Given the description of an element on the screen output the (x, y) to click on. 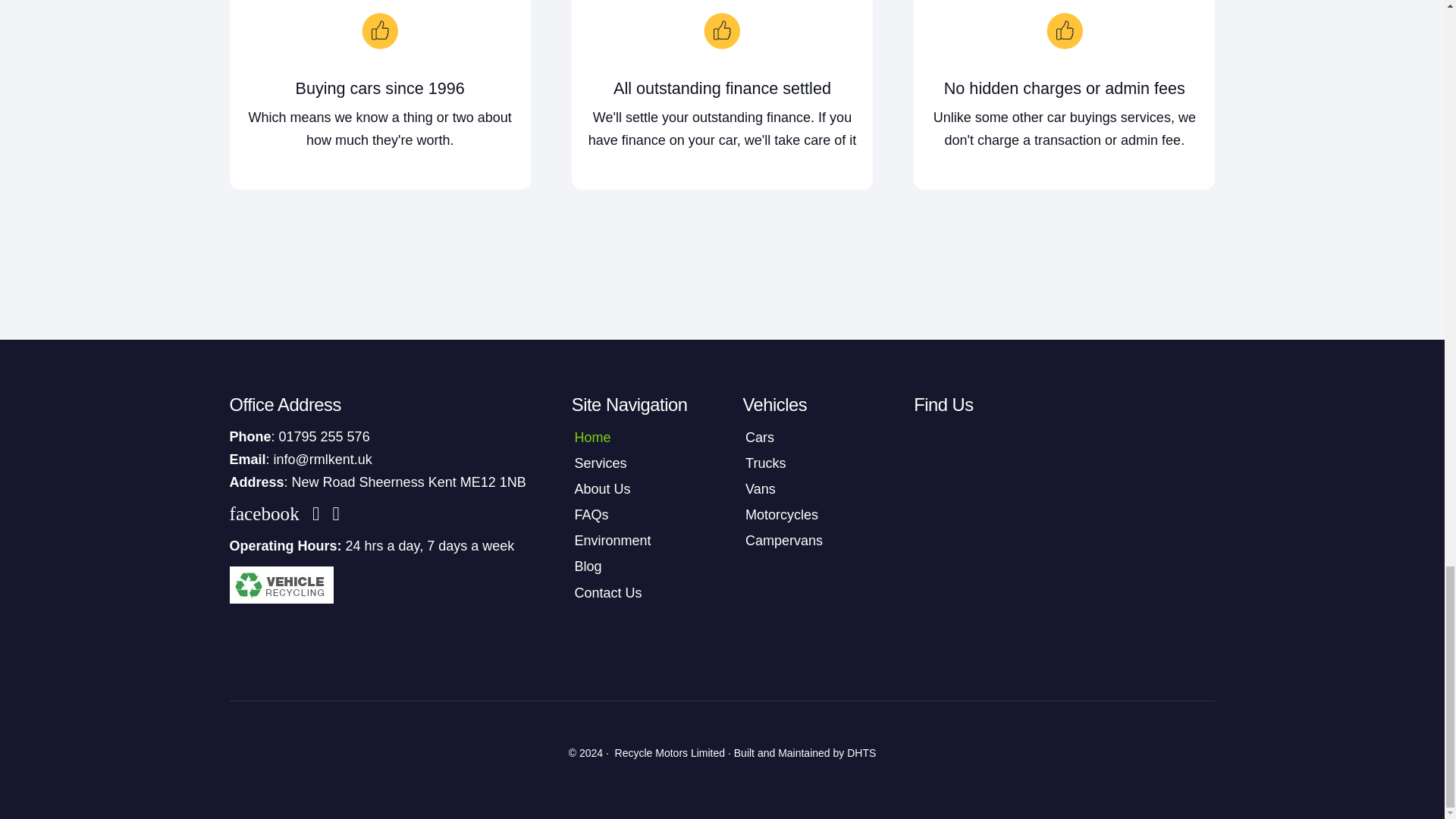
Services (636, 463)
DHTS (861, 752)
Blog (636, 567)
Built and Designed by DHTS (861, 752)
Vans (807, 488)
facebook (266, 513)
Home (636, 437)
Environment (636, 541)
Cars (807, 437)
Contact Us (636, 592)
